Given the description of an element on the screen output the (x, y) to click on. 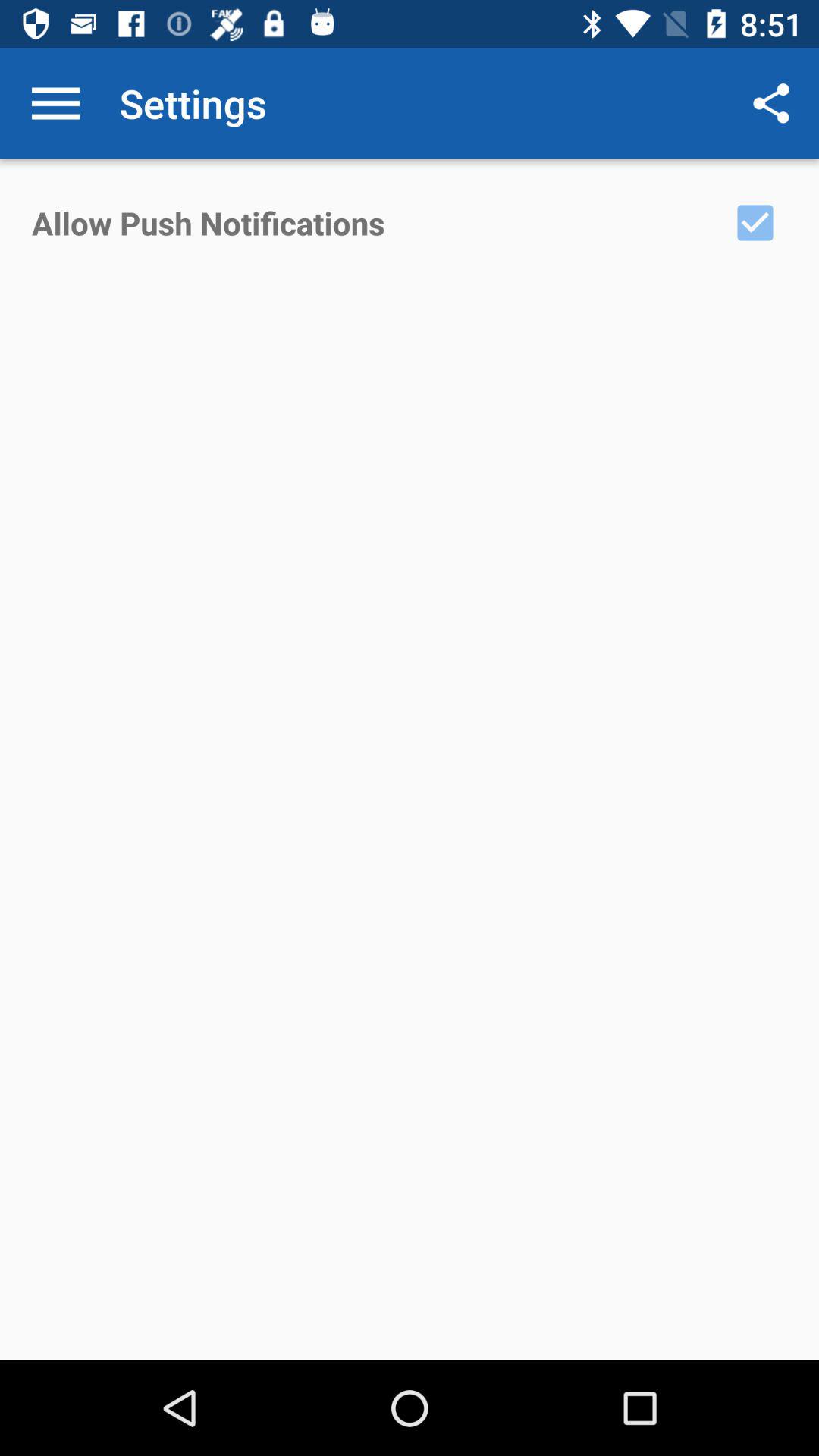
notification allow button (755, 222)
